Given the description of an element on the screen output the (x, y) to click on. 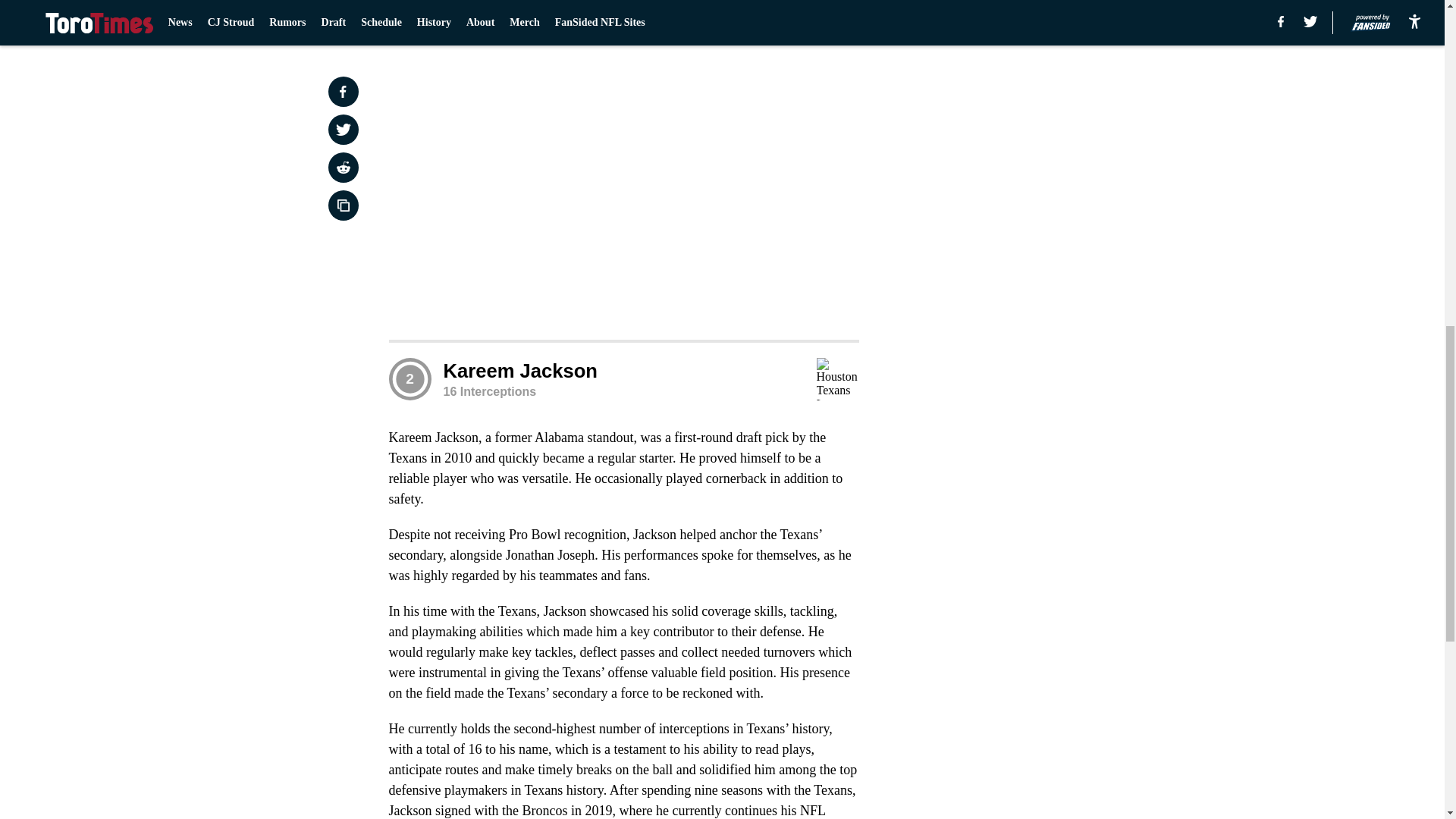
Prev (433, 20)
Next (813, 20)
